Given the description of an element on the screen output the (x, y) to click on. 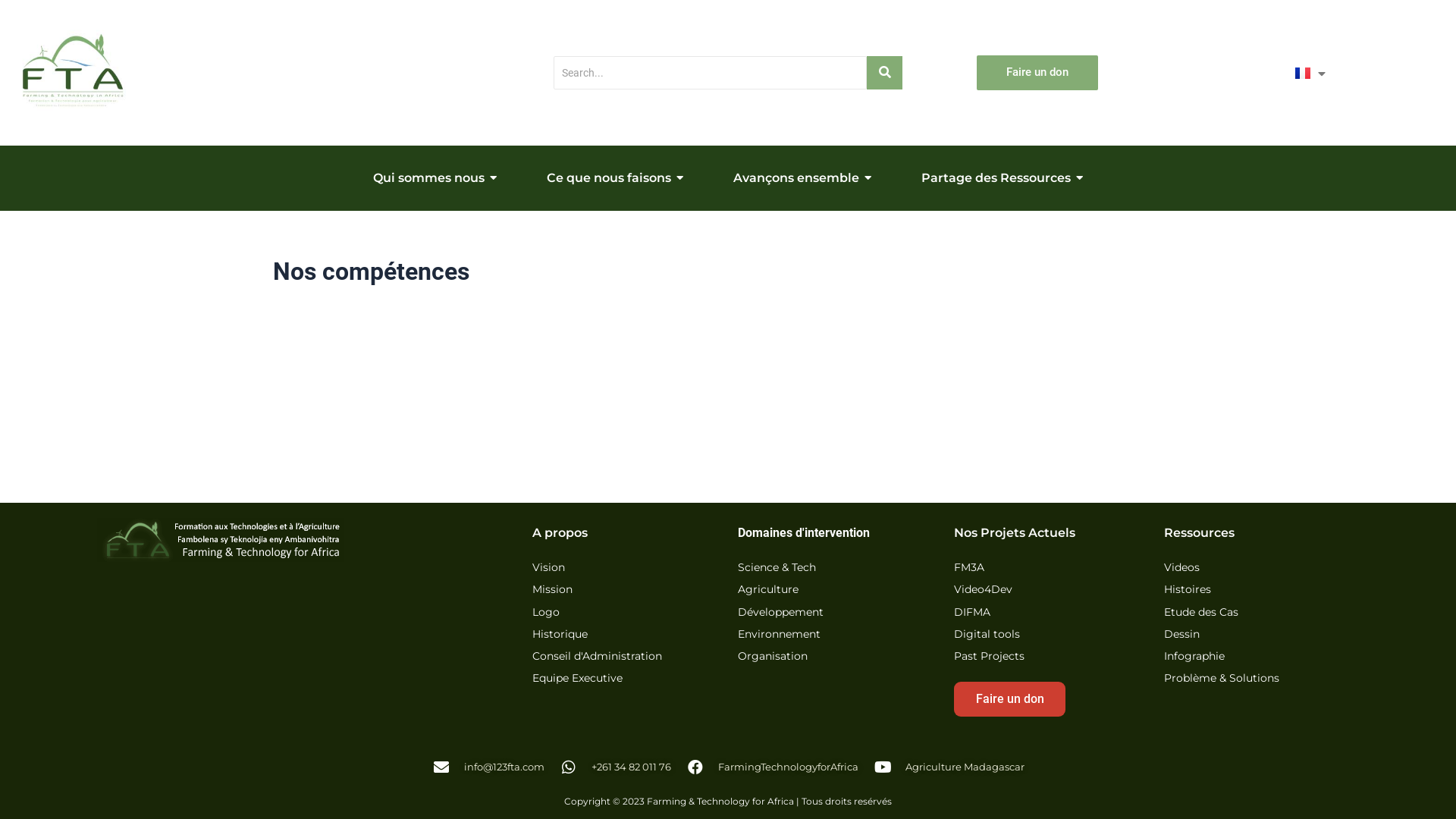
Search Element type: hover (709, 72)
Digital tools Element type: text (986, 635)
Mission Element type: text (552, 590)
Partage des Ressources Element type: text (1001, 177)
Past Projects Element type: text (988, 657)
Organisation Element type: text (772, 657)
FM3A Element type: text (968, 568)
Ce que nous faisons Element type: text (614, 177)
Logo Element type: text (545, 613)
Dessin Element type: text (1181, 635)
FarmingTechnologyforAfrica Element type: text (771, 767)
Infographie Element type: text (1194, 657)
Environnement Element type: text (778, 635)
Conseil d'Administration Element type: text (597, 657)
Videos Element type: text (1181, 568)
DIFMA Element type: text (971, 613)
Histoires Element type: text (1187, 590)
Faire un don Element type: text (1009, 698)
Faire un don Element type: text (1037, 72)
Qui sommes nous Element type: text (434, 177)
Science & Tech Element type: text (776, 568)
Etude des Cas Element type: text (1201, 613)
Agriculture Madagascar Element type: text (948, 767)
Agriculture Element type: text (767, 590)
Equipe Executive Element type: text (577, 679)
Vision Element type: text (548, 568)
Video4Dev Element type: text (982, 590)
Historique Element type: text (559, 635)
